Given the description of an element on the screen output the (x, y) to click on. 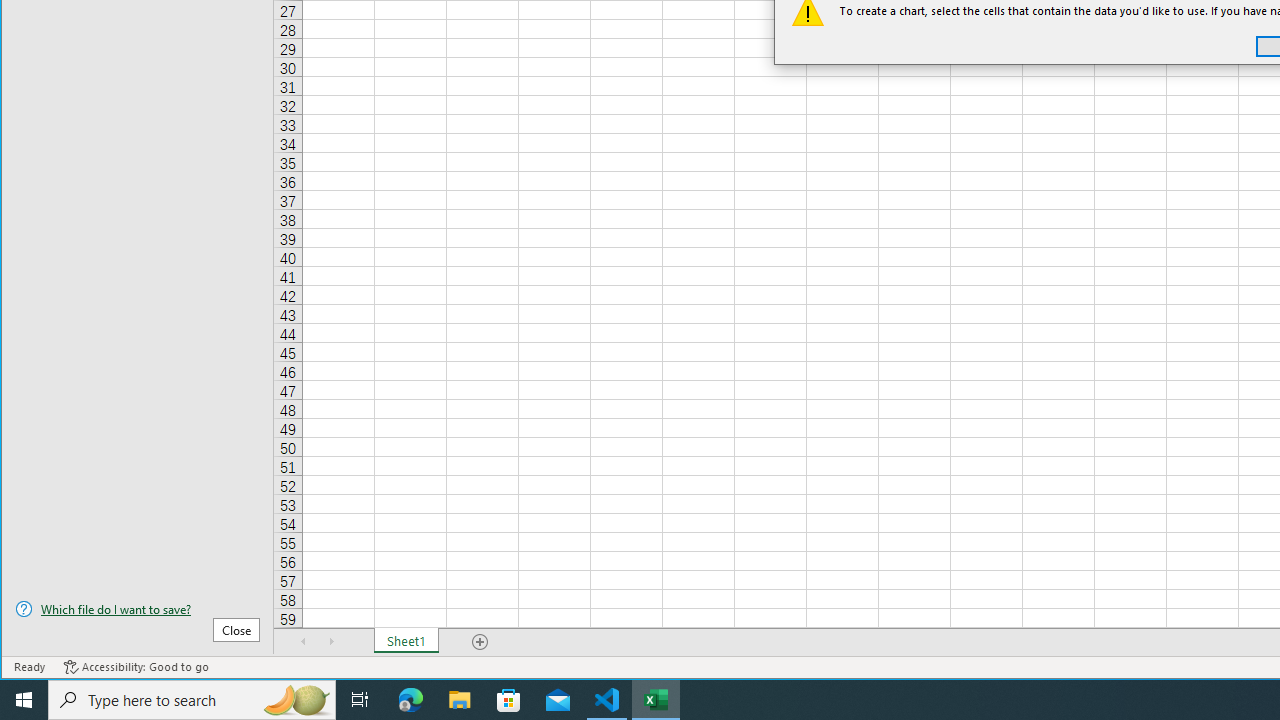
Scroll Left (303, 641)
Start (24, 699)
Close (235, 629)
File Explorer (460, 699)
Scroll Right (331, 641)
Task View (359, 699)
Add Sheet (481, 641)
Excel - 1 running window (656, 699)
Microsoft Edge (411, 699)
Search highlights icon opens search home window (295, 699)
Microsoft Store (509, 699)
Type here to search (191, 699)
Visual Studio Code - 1 running window (607, 699)
Which file do I want to save? (137, 609)
